Given the description of an element on the screen output the (x, y) to click on. 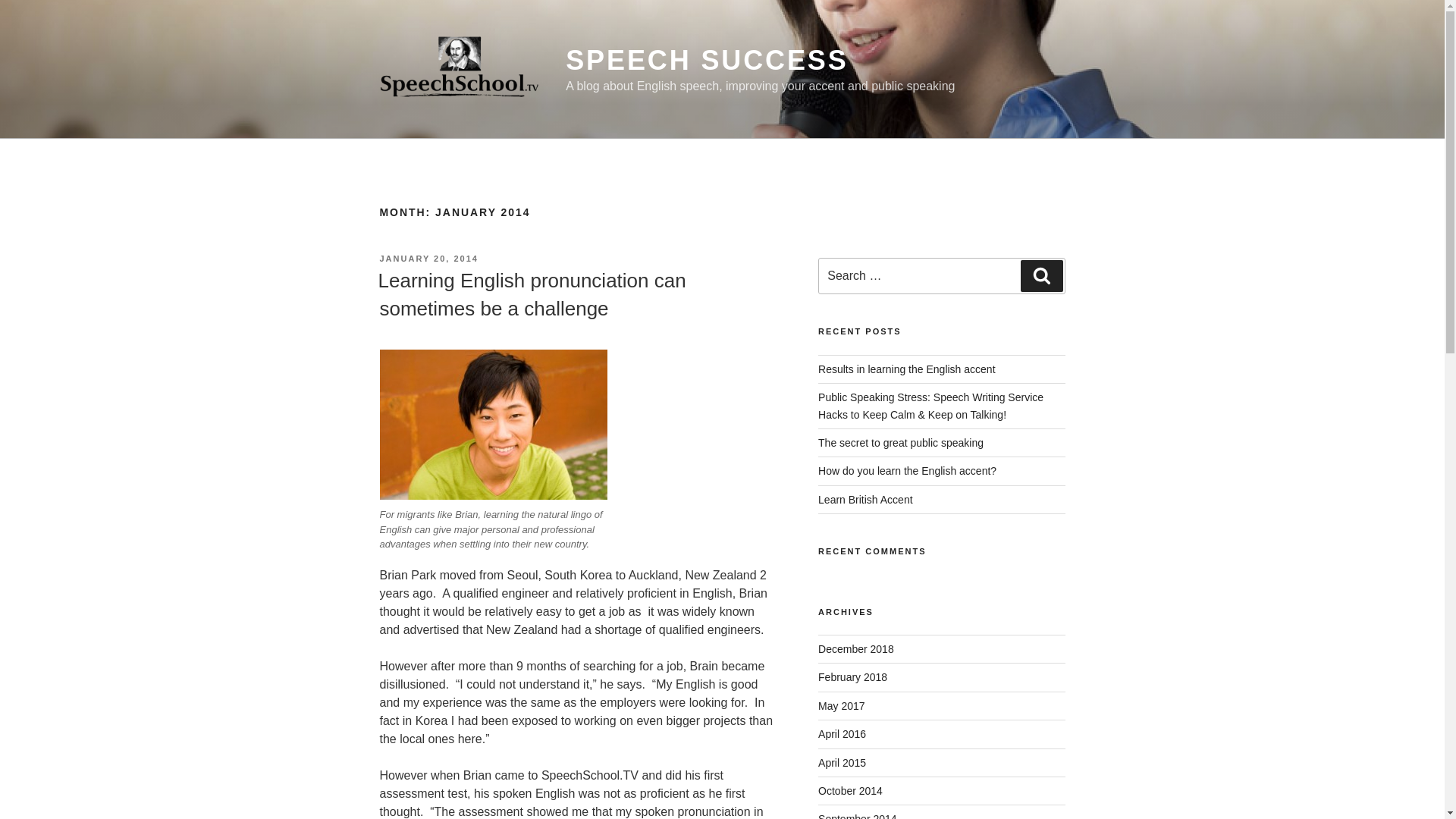
April 2015 (842, 762)
October 2014 (850, 790)
How do you learn the English accent? (906, 470)
December 2018 (855, 648)
SPEECH SUCCESS (706, 60)
September 2014 (857, 816)
JANUARY 20, 2014 (427, 257)
April 2016 (842, 734)
Search (1041, 275)
February 2018 (852, 676)
May 2017 (841, 705)
Results in learning the English accent (906, 369)
The secret to great public speaking (901, 442)
Learning English pronunciation can sometimes be a challenge (531, 294)
Learn British Accent (865, 499)
